Given the description of an element on the screen output the (x, y) to click on. 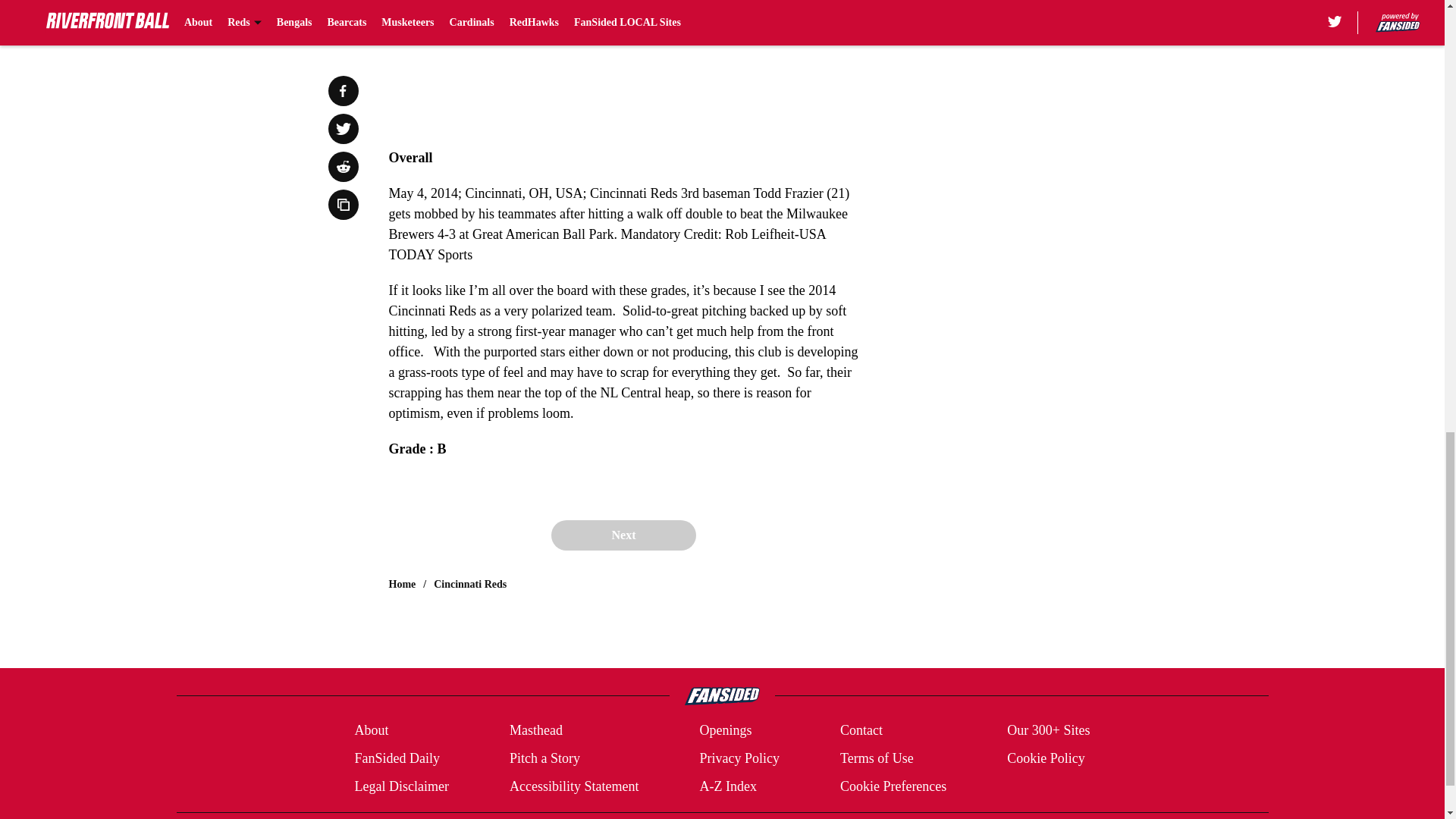
FanSided Daily (396, 758)
Accessibility Statement (574, 786)
About (370, 730)
Terms of Use (877, 758)
Next (622, 535)
Cookie Preferences (893, 786)
Cincinnati Reds (469, 584)
Pitch a Story (544, 758)
Contact (861, 730)
Legal Disclaimer (400, 786)
